Given the description of an element on the screen output the (x, y) to click on. 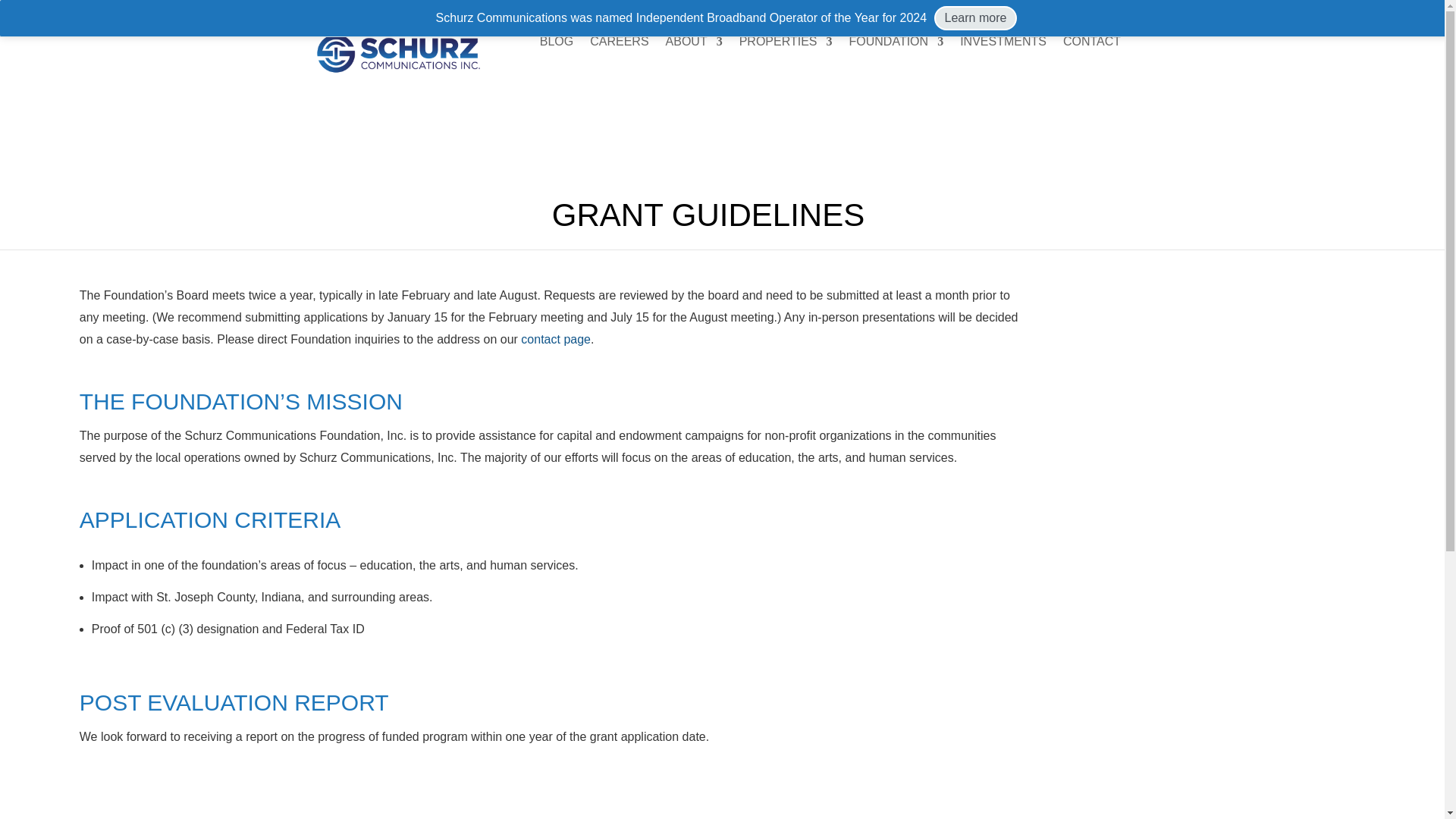
contact page (556, 338)
Learn more (975, 17)
BLOG (556, 44)
Logo (398, 53)
INVESTMENTS (1002, 44)
PROPERTIES (785, 44)
FOUNDATION (895, 44)
CONTACT (1091, 44)
ABOUT (693, 44)
CAREERS (618, 44)
